Given the description of an element on the screen output the (x, y) to click on. 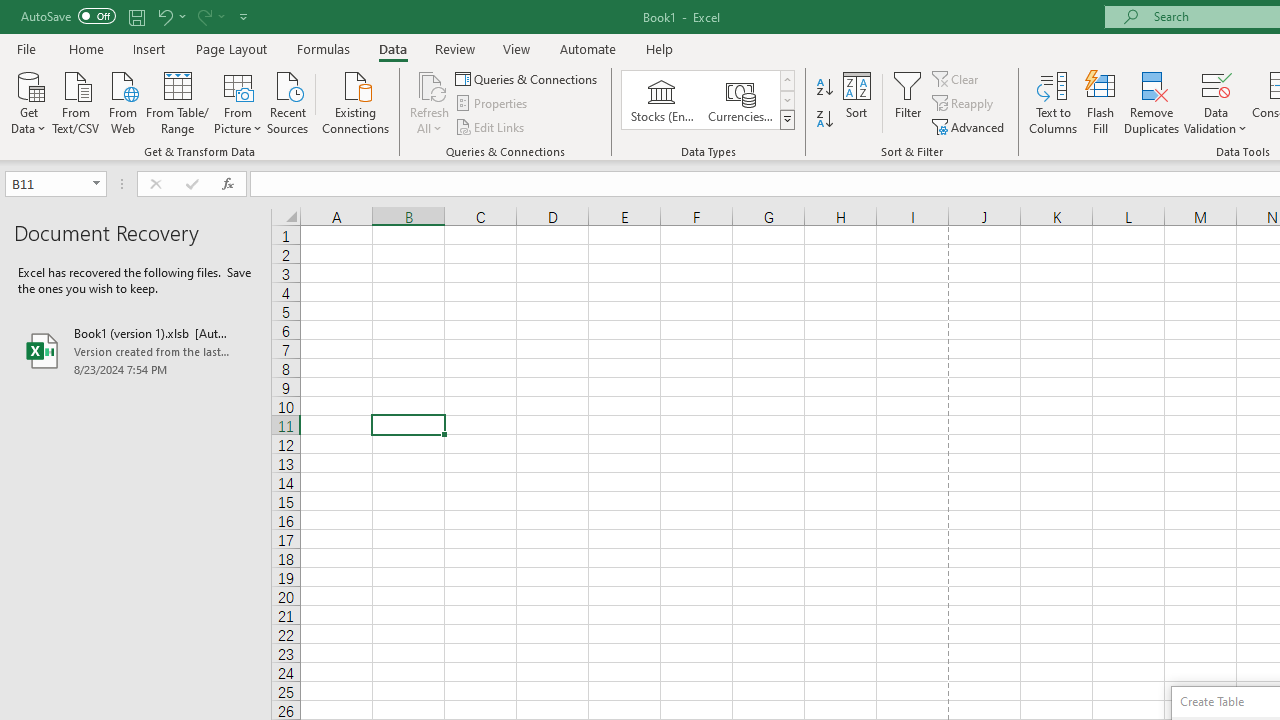
Sort Z to A (824, 119)
Recent Sources (287, 101)
Remove Duplicates (1151, 102)
From Web (122, 101)
Advanced... (970, 126)
Reapply (964, 103)
Currencies (English) (740, 100)
